Given the description of an element on the screen output the (x, y) to click on. 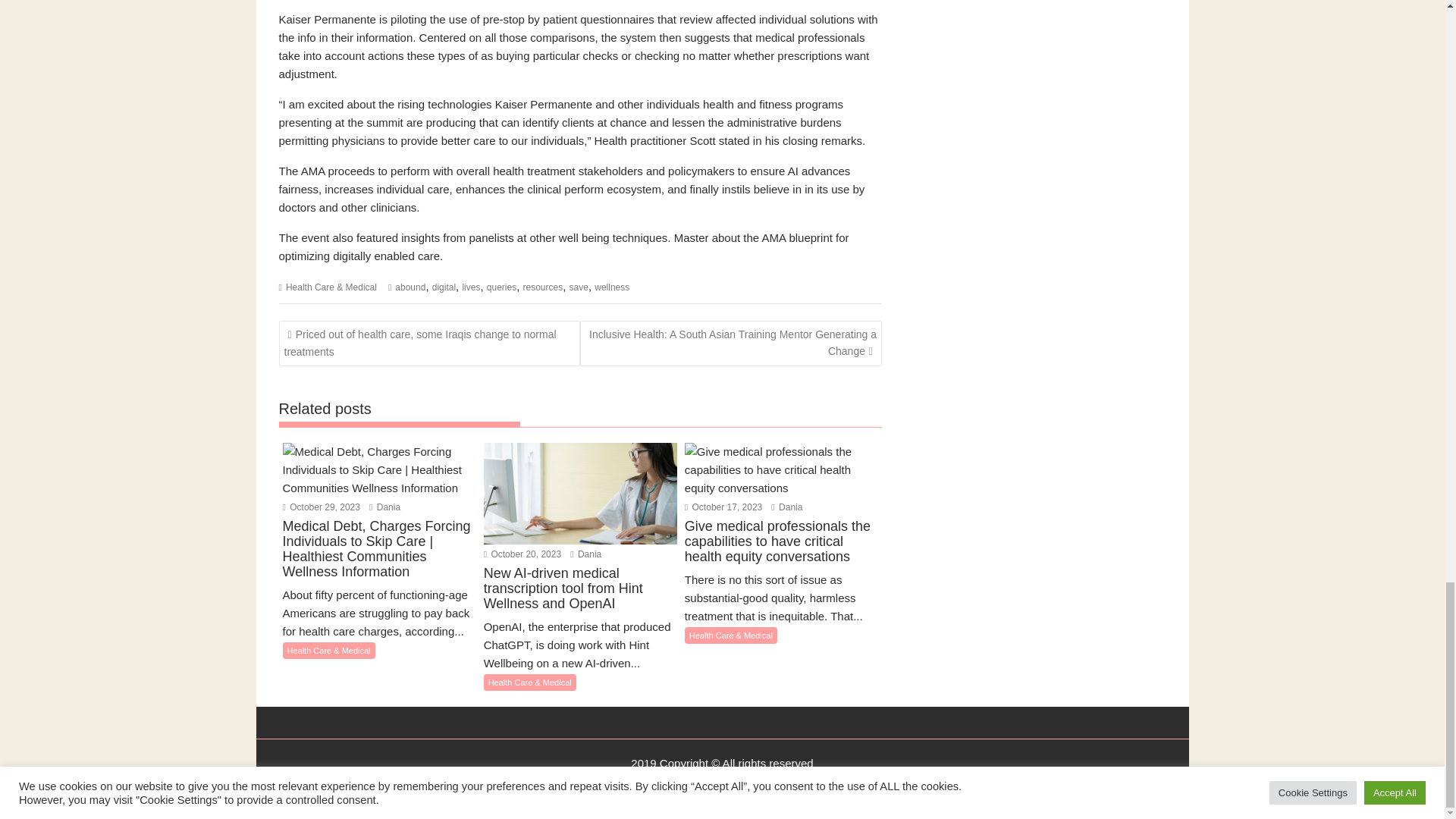
Dania (384, 507)
